Given the description of an element on the screen output the (x, y) to click on. 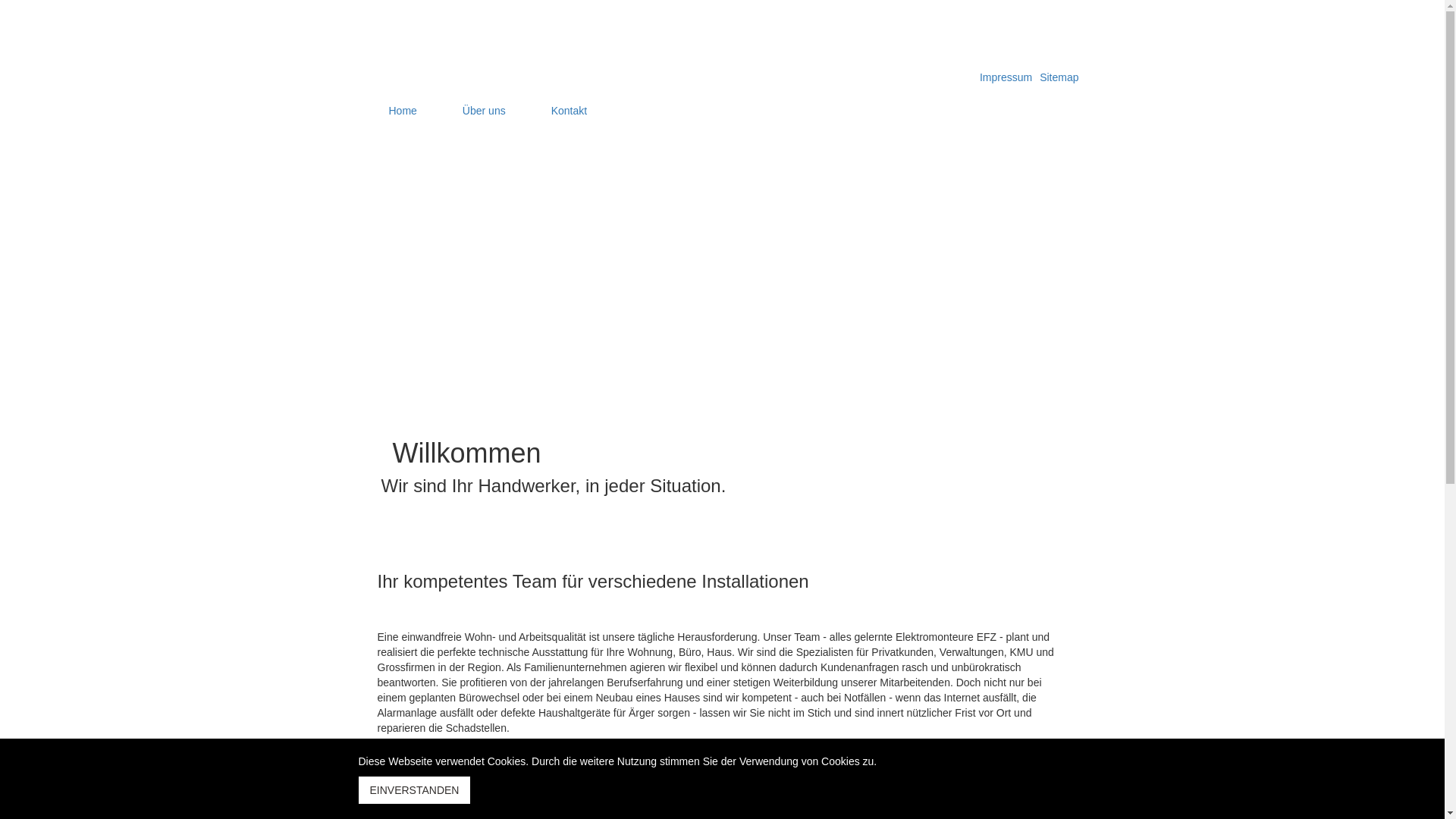
Sitemap Element type: text (1058, 77)
Home Element type: text (402, 109)
Impressum Element type: text (1005, 77)
Kontakt Element type: text (568, 109)
